Given the description of an element on the screen output the (x, y) to click on. 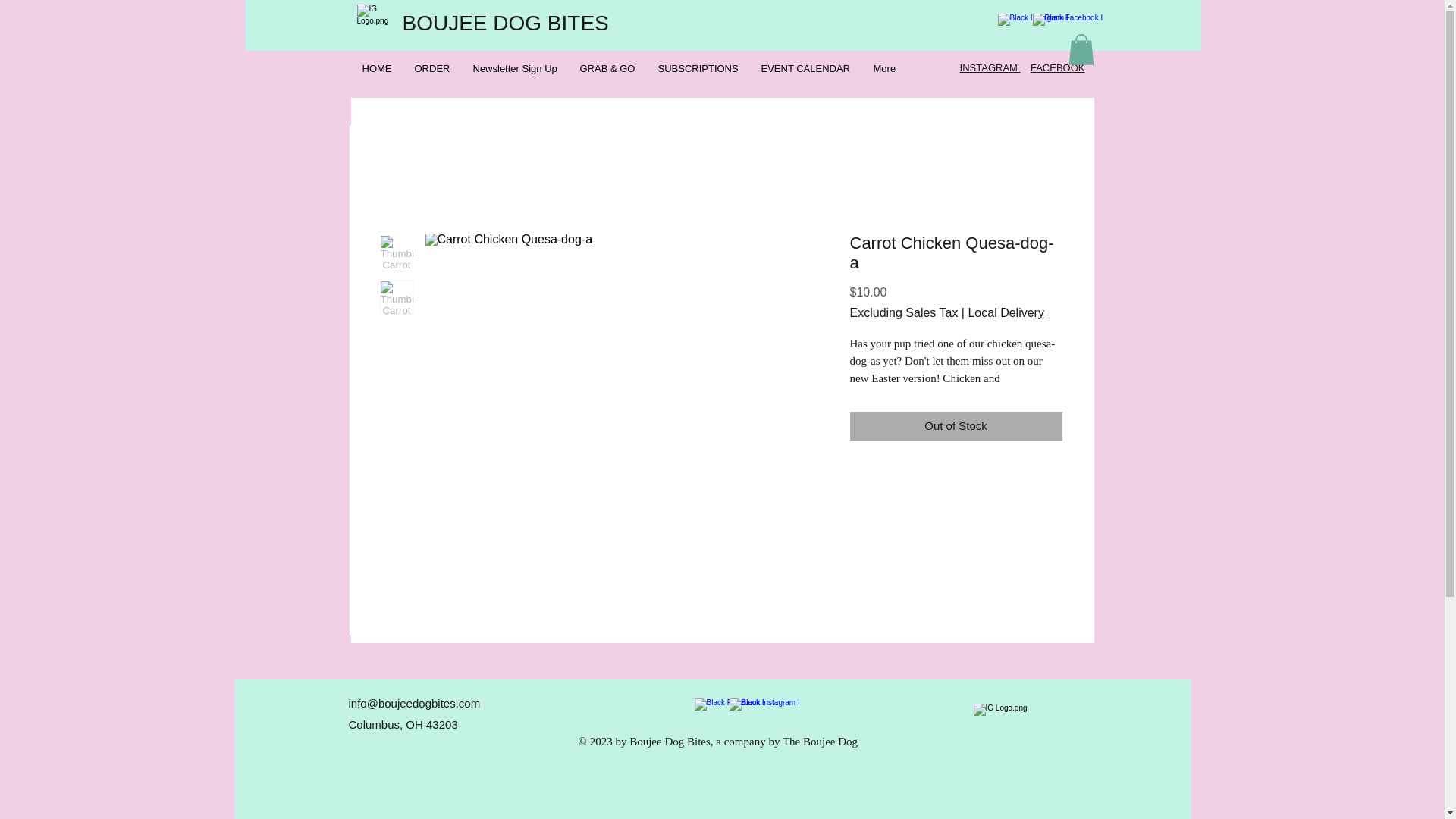
Local Delivery (1005, 313)
ORDER (432, 68)
BOUJEE DOG BITES (504, 23)
Newsletter Sign Up (514, 68)
INSTAGRAM  (989, 67)
Out of Stock (954, 426)
SUBSCRIPTIONS (697, 68)
EVENT CALENDAR (805, 68)
HOME (376, 68)
FACEBOOK (1057, 67)
